Given the description of an element on the screen output the (x, y) to click on. 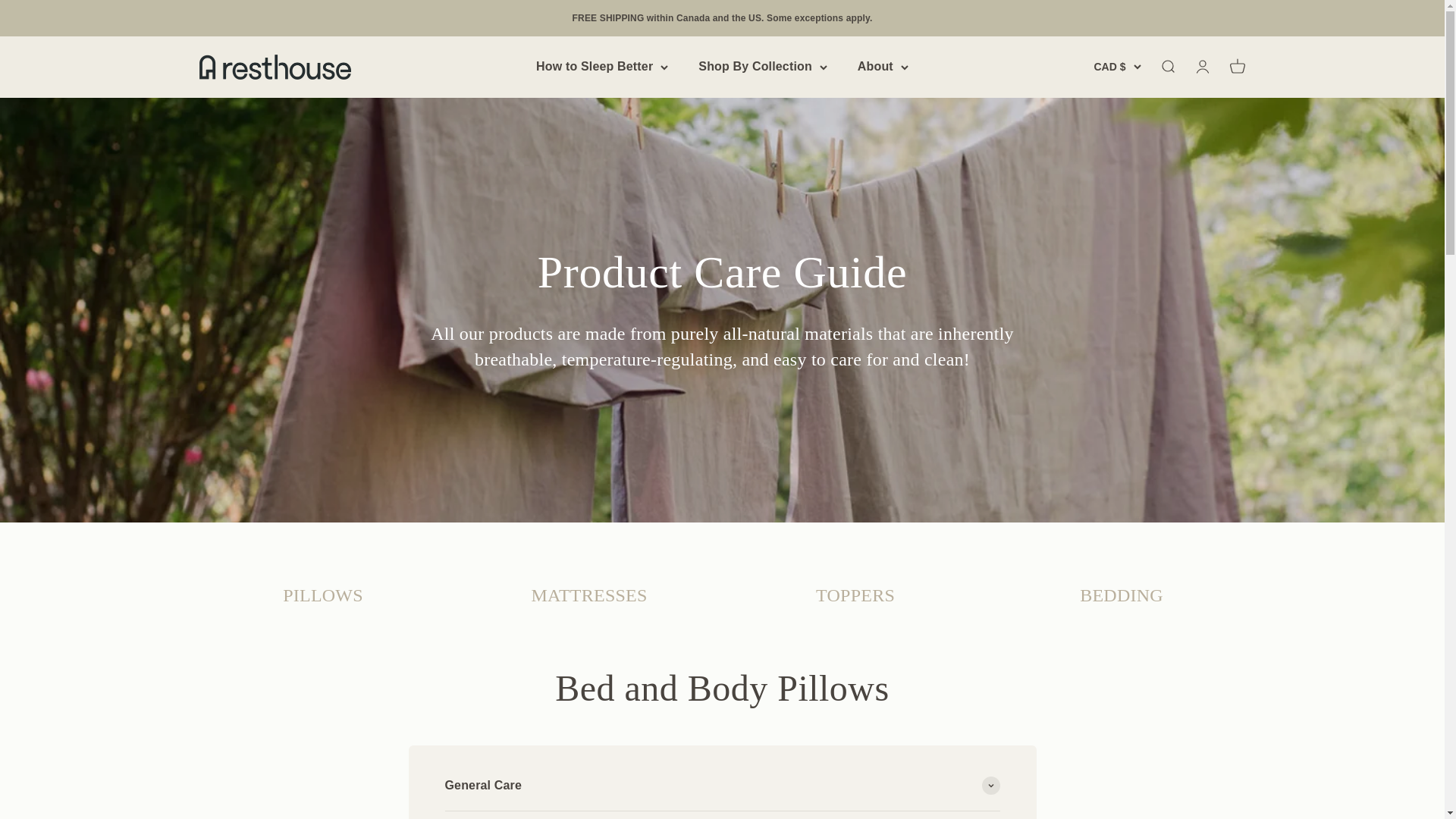
Resthouse Sleep (1236, 67)
Open search (274, 66)
Open account page (1166, 67)
